Given the description of an element on the screen output the (x, y) to click on. 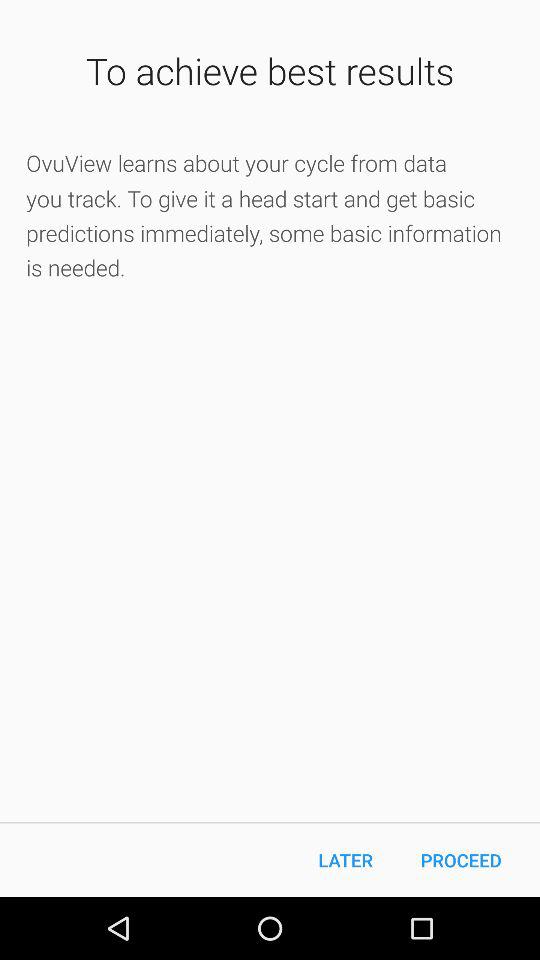
turn on the icon next to proceed item (345, 859)
